Given the description of an element on the screen output the (x, y) to click on. 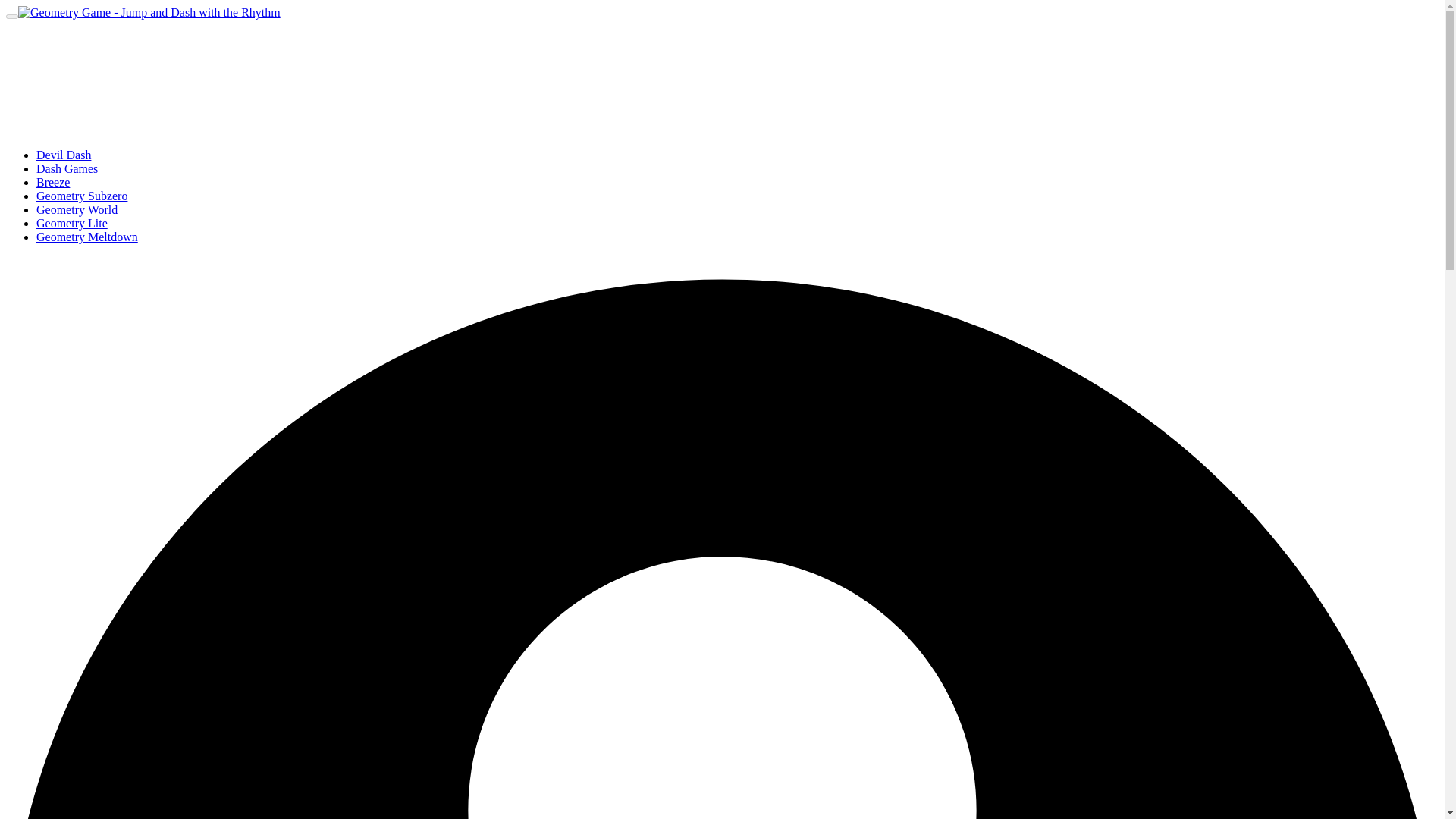
Geometry Subzero (82, 195)
Breeze (52, 182)
Geometry Subzero (82, 195)
Geometry Meltdown (87, 236)
Devil Dash (63, 154)
Devil Dash (63, 154)
Geometry Meltdown (87, 236)
Geometry Lite (71, 223)
Geometry World (76, 209)
Geometry Game - Jump and Dash with the Rhythm (149, 11)
Geometry Lite (71, 223)
Dash Games (66, 168)
Dash Games (66, 168)
Breeze (52, 182)
Geometry World (76, 209)
